Given the description of an element on the screen output the (x, y) to click on. 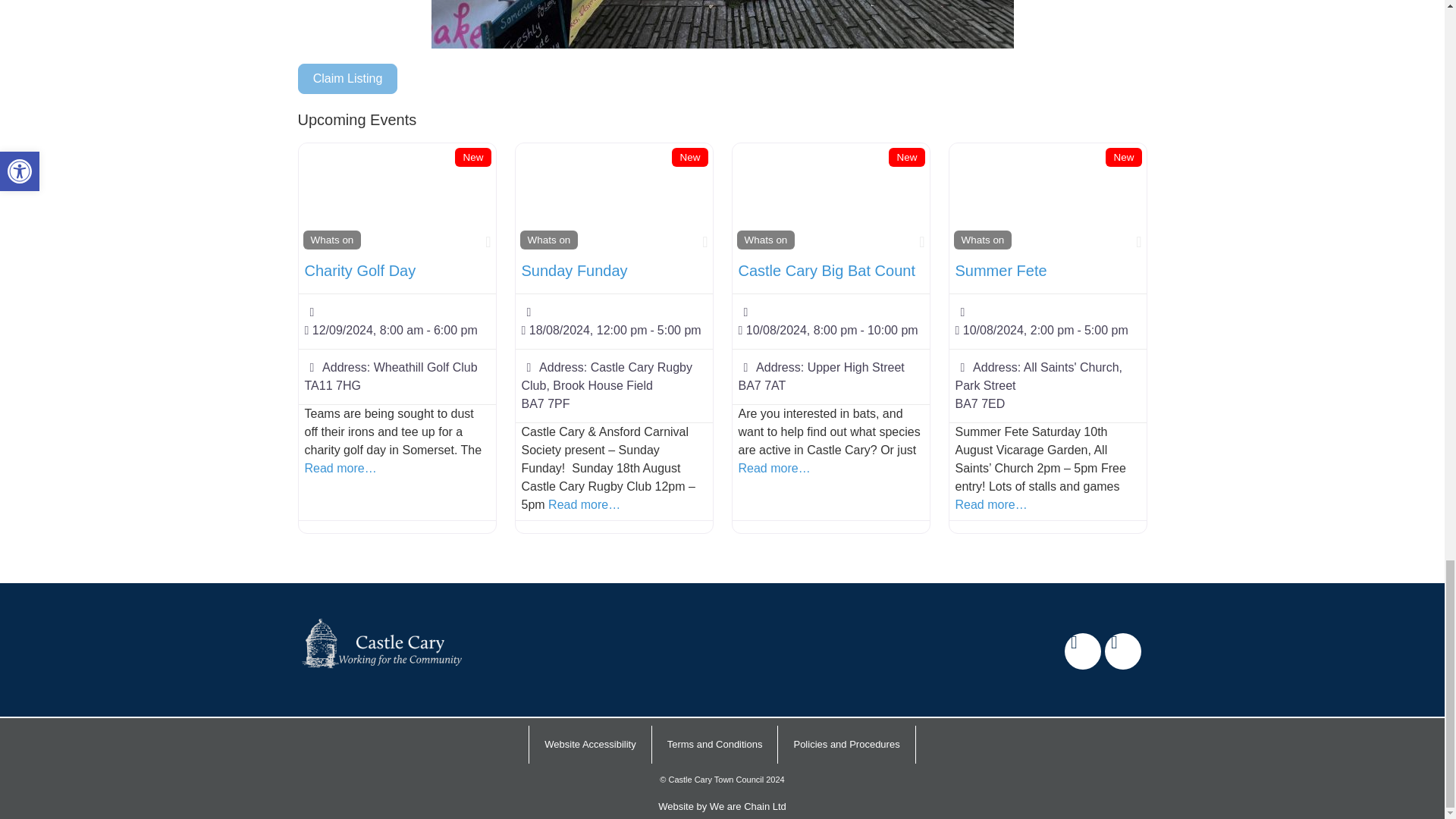
View: Castle Cary Big Bat Count (826, 270)
View: Charity Golf Day (360, 270)
View: Summer Fete (1000, 270)
View: Sunday Funday (574, 270)
